Given the description of an element on the screen output the (x, y) to click on. 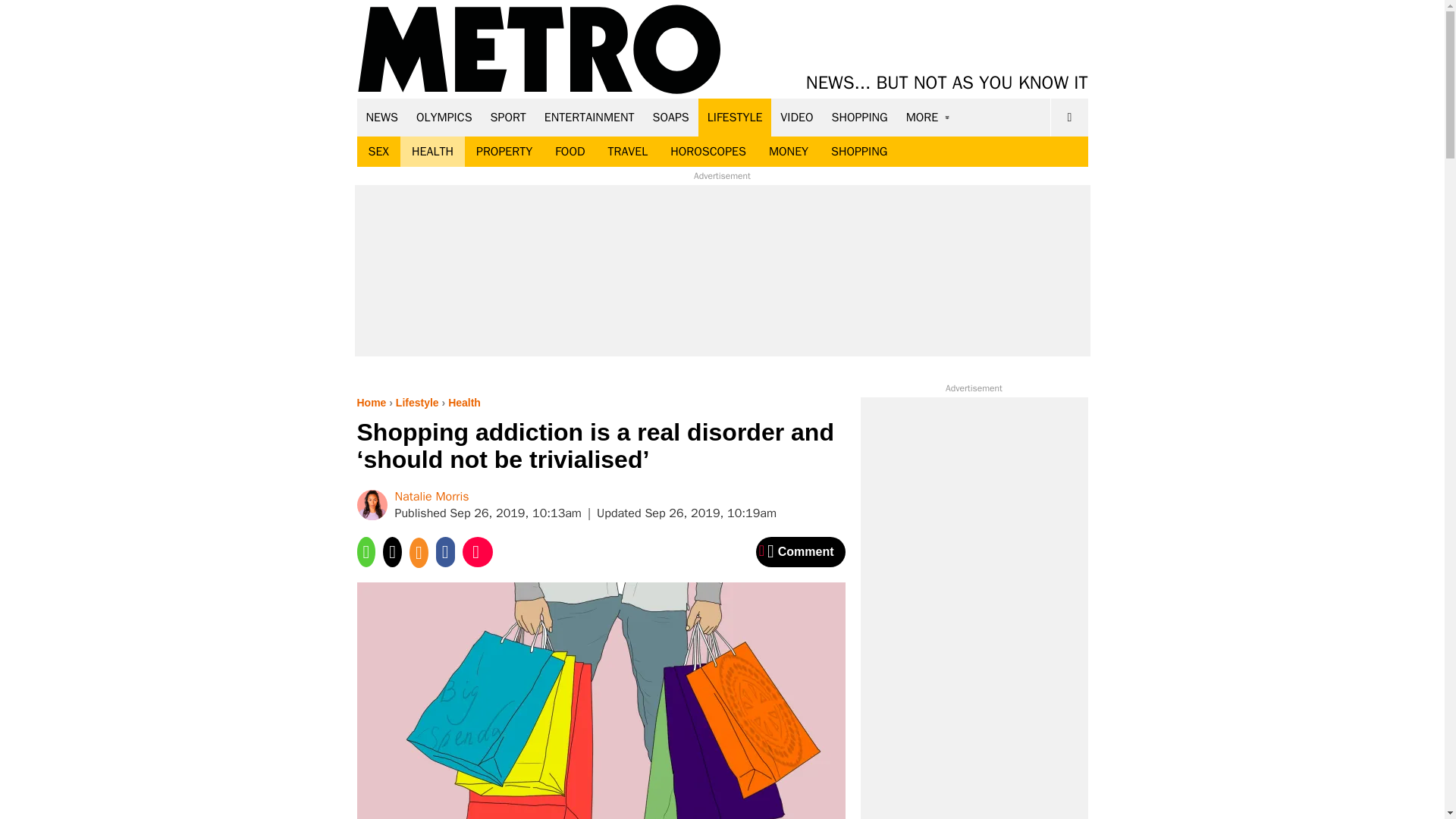
OLYMPICS (444, 117)
NEWS (381, 117)
ENTERTAINMENT (589, 117)
Metro (539, 50)
LIFESTYLE (734, 117)
FOOD (569, 151)
PROPERTY (503, 151)
SEX (377, 151)
SOAPS (670, 117)
SPORT (508, 117)
